Given the description of an element on the screen output the (x, y) to click on. 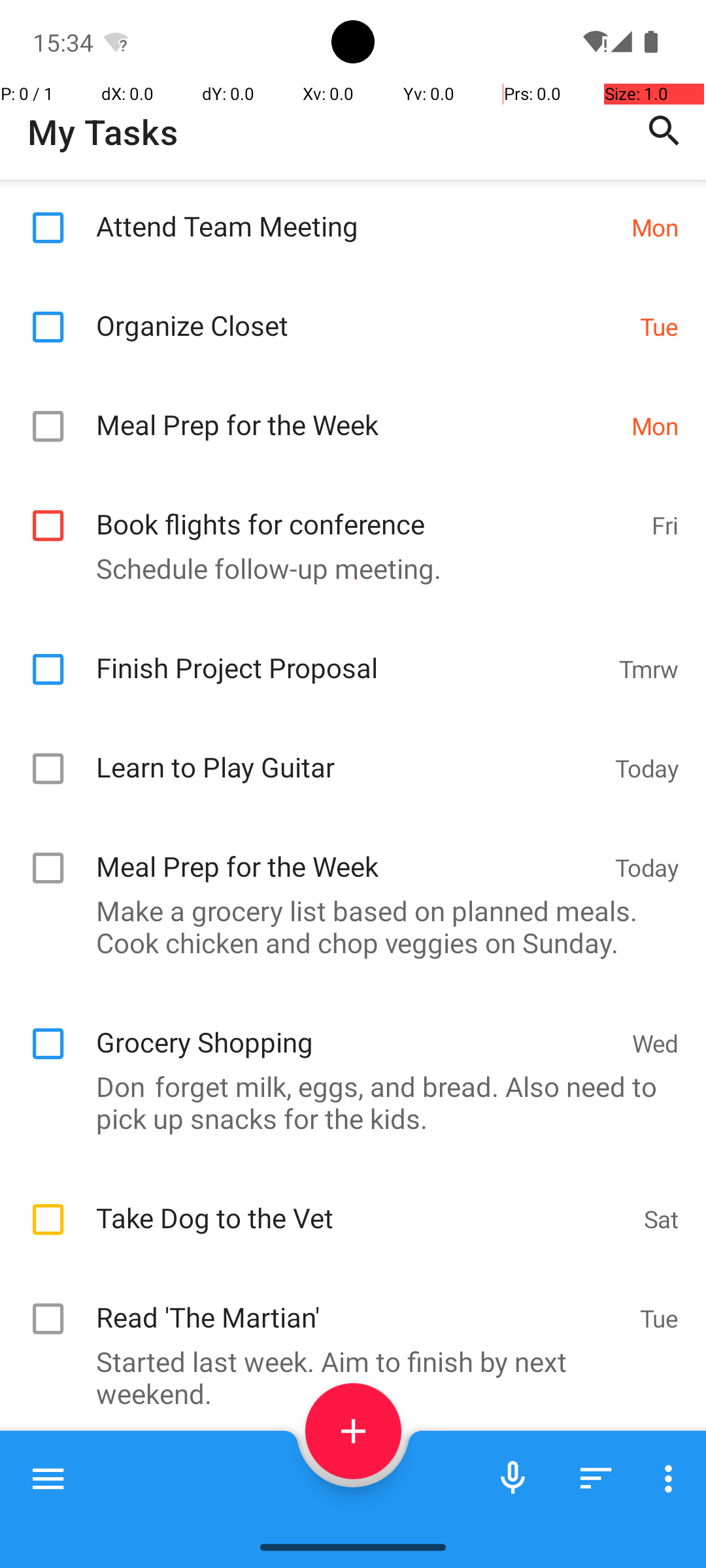
Schedule follow-up meeting. Element type: android.widget.TextView (346, 567)
